Given the description of an element on the screen output the (x, y) to click on. 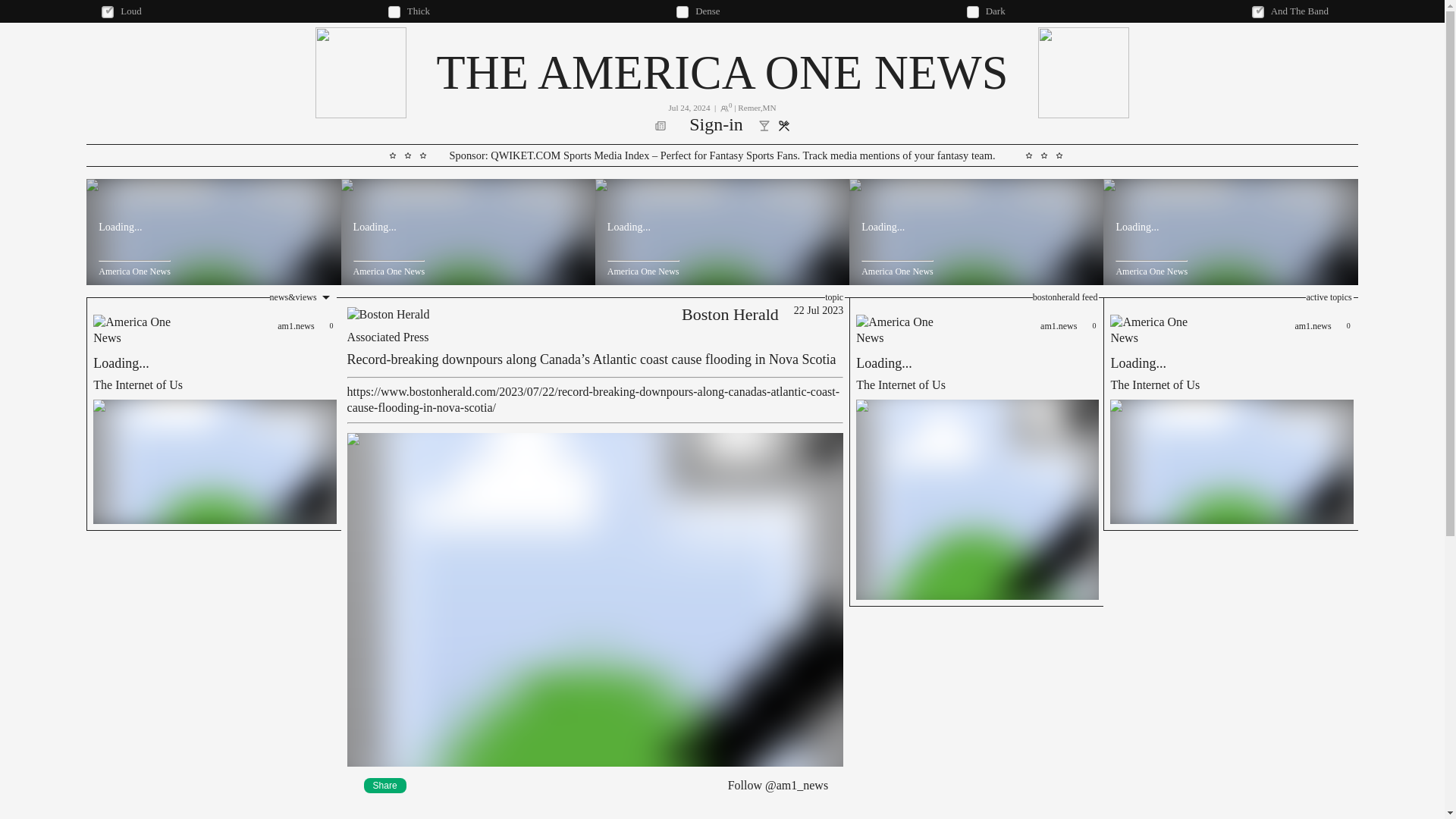
Boston Herald (1229, 413)
Sign-in (729, 314)
QWIKET.COM (715, 125)
THE AMERICA ONE NEWS (212, 413)
Share (525, 154)
